Given the description of an element on the screen output the (x, y) to click on. 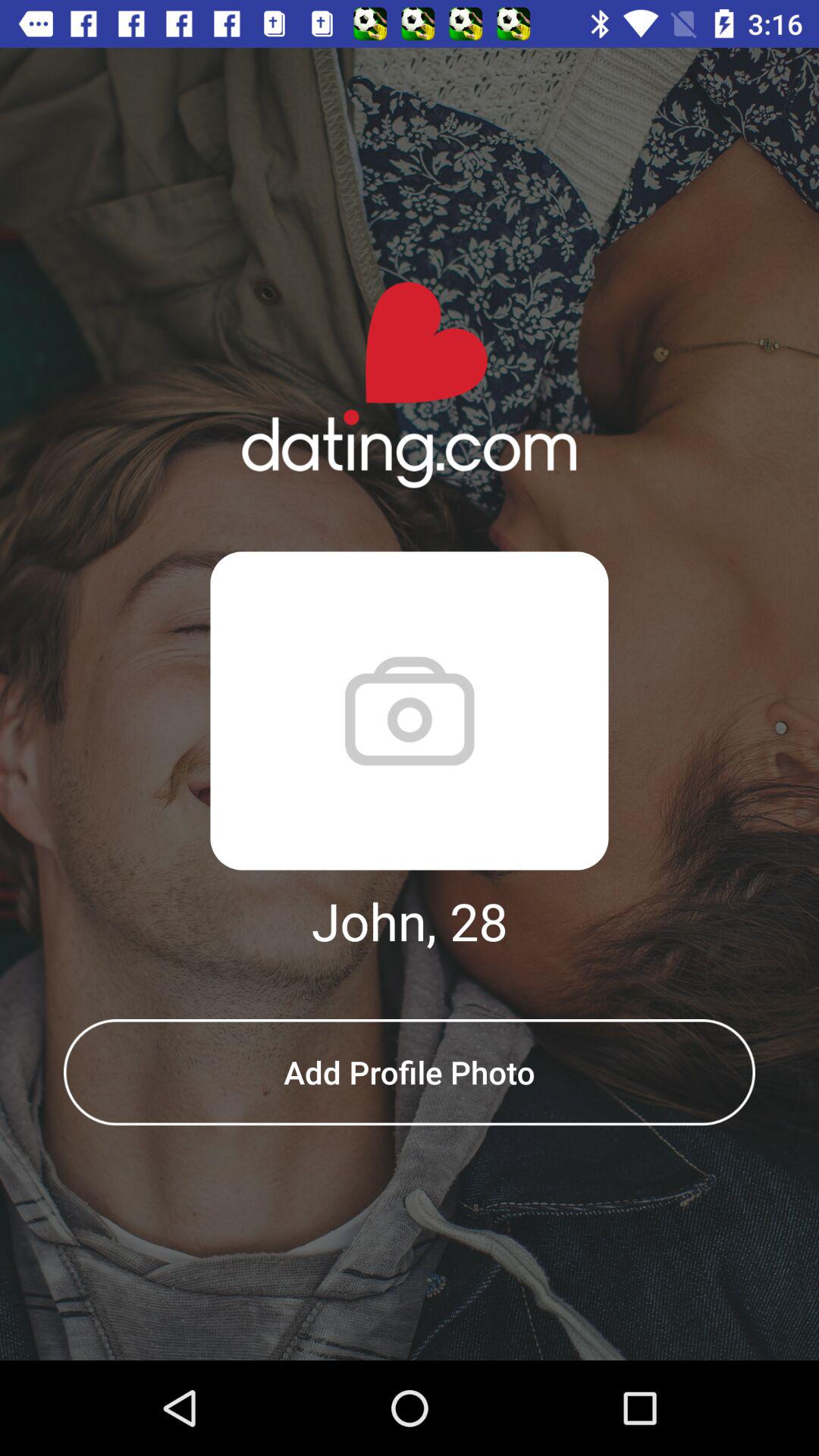
go to camera (409, 710)
